Given the description of an element on the screen output the (x, y) to click on. 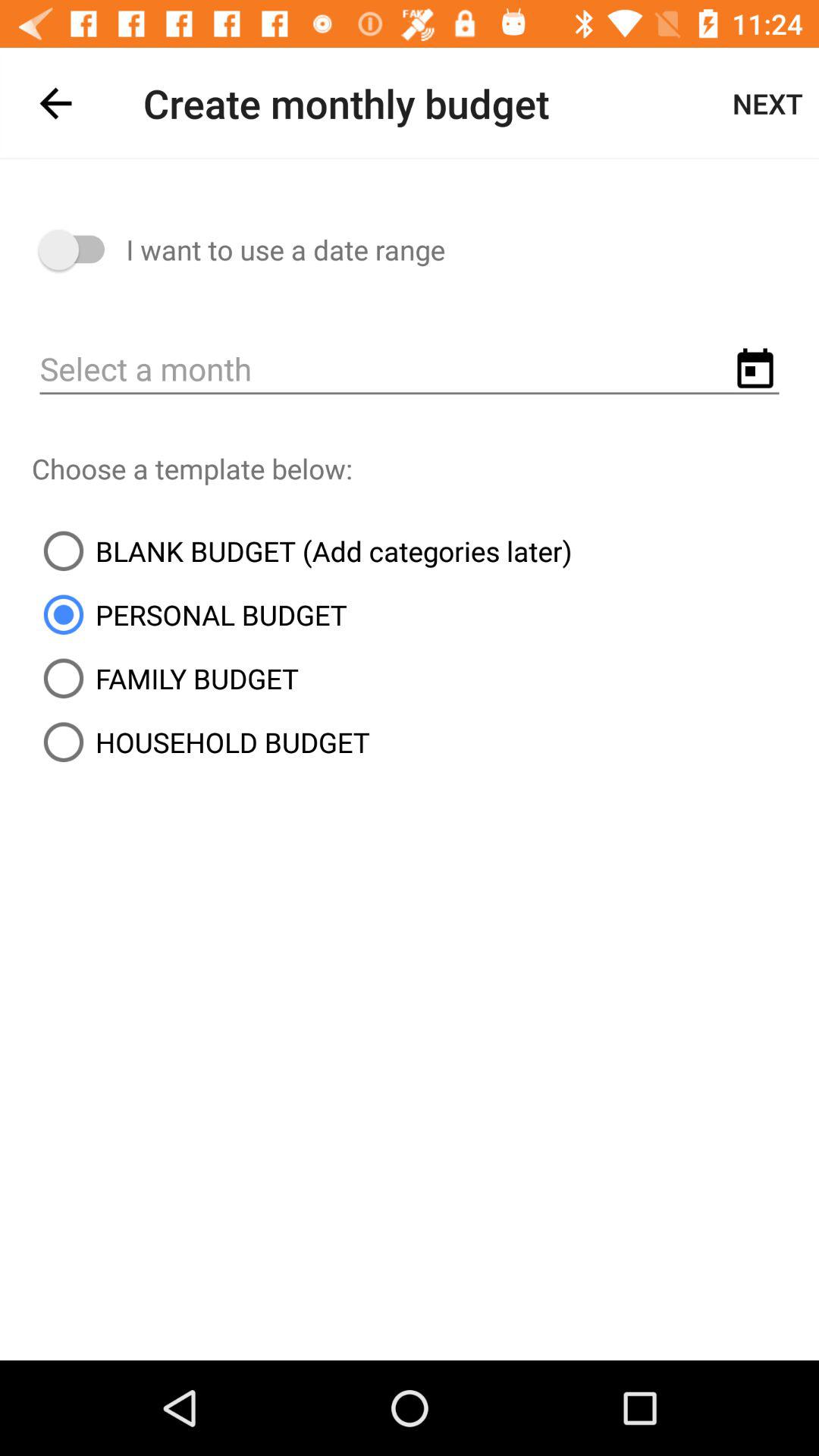
press item to the left of i want to (78, 249)
